Given the description of an element on the screen output the (x, y) to click on. 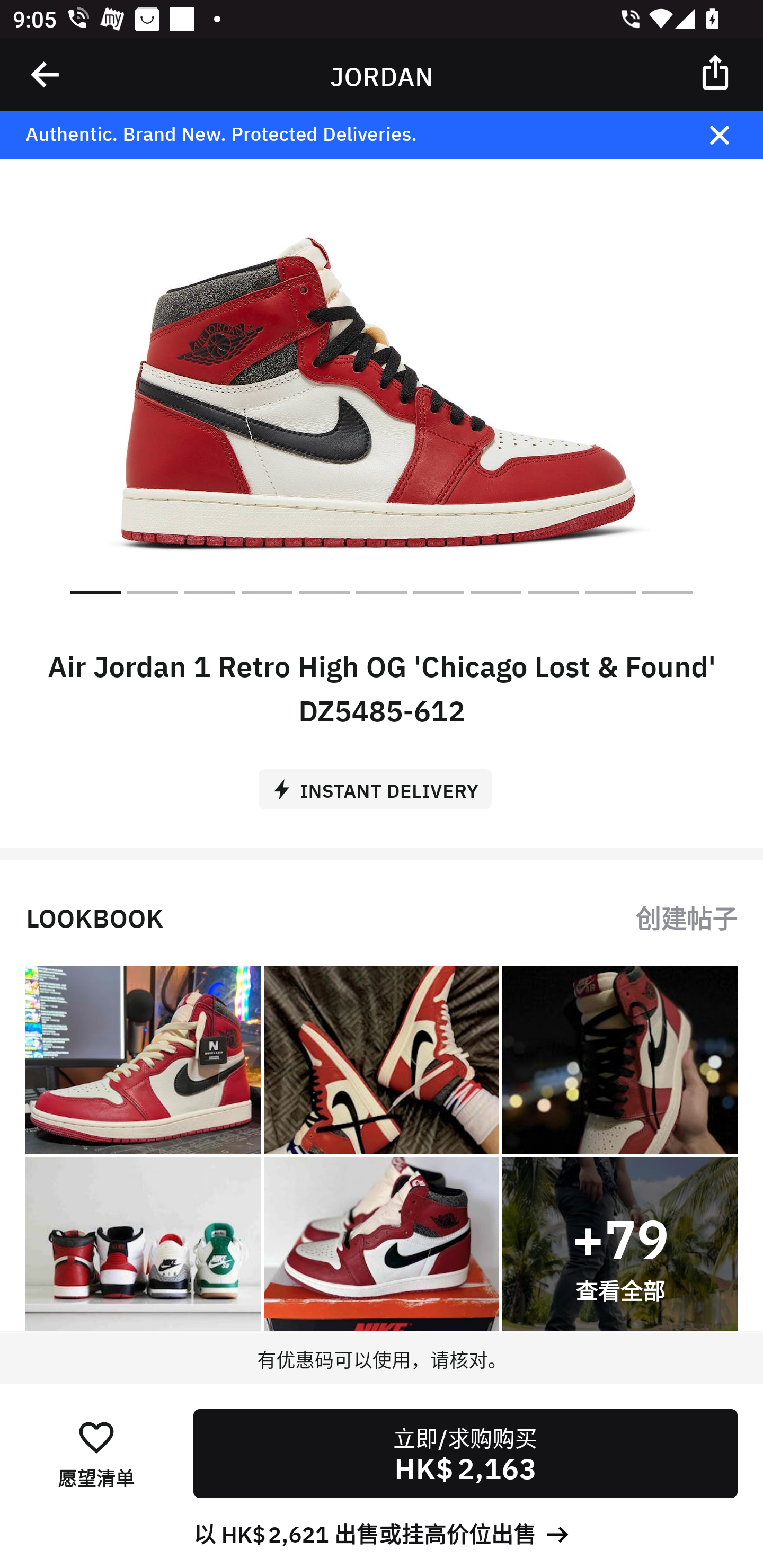
 (46, 74)
 (716, 70)
Authentic. Brand New. Protected Deliveries. (350, 134)
 (732, 134)
 INSTANT DELIVERY (381, 782)
创建帖子 (685, 916)
立即/求购购买 HK$ 2,163 (465, 1453)
󰋕 (95, 1435)
以 HK$ 2,621 出售或挂高价位出售 (381, 1532)
